Given the description of an element on the screen output the (x, y) to click on. 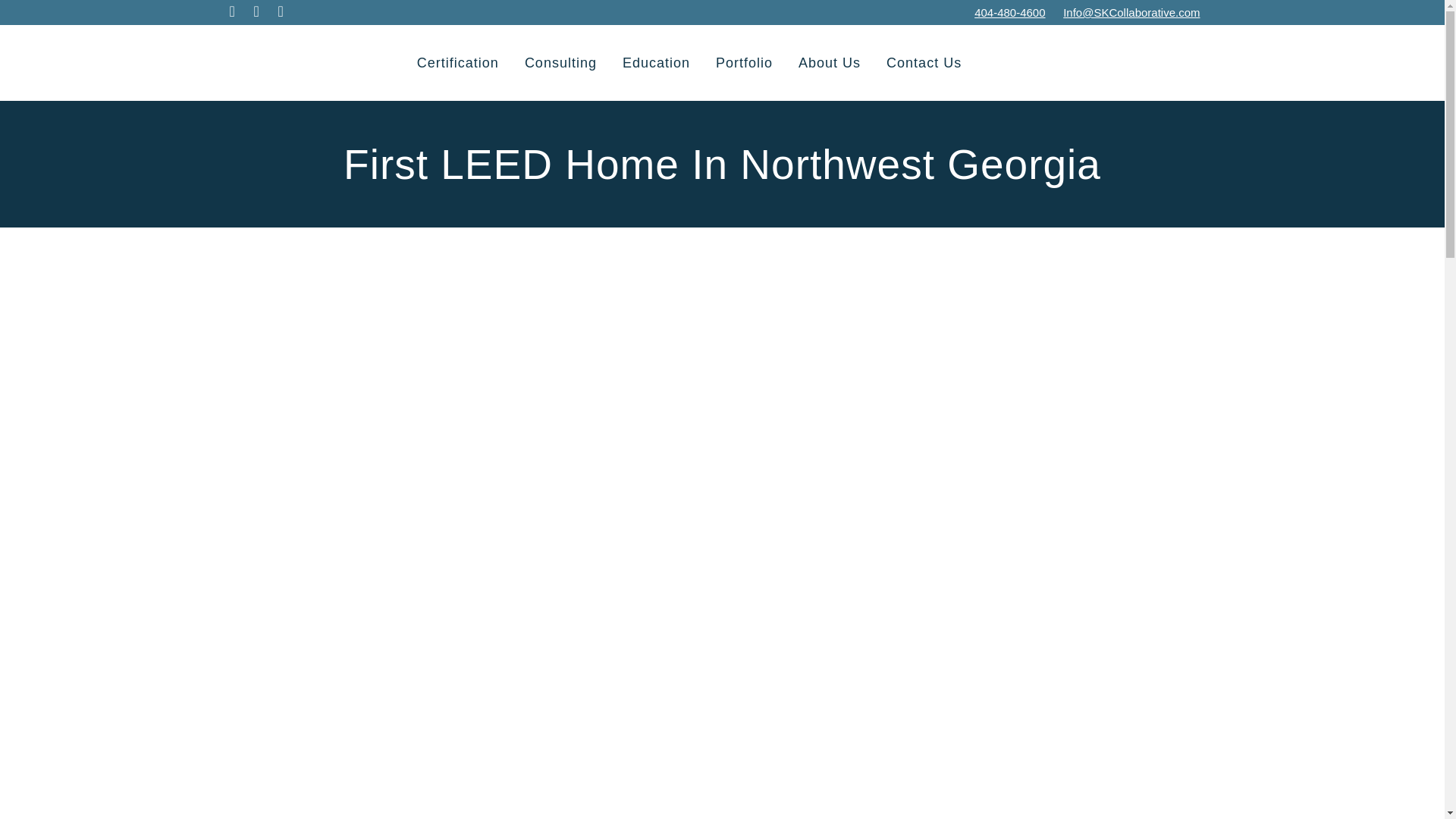
Certification (458, 62)
About Us (829, 62)
Education (656, 62)
404-480-4600 (1009, 11)
Contact Us (923, 62)
Portfolio (744, 62)
Consulting (561, 62)
